Given the description of an element on the screen output the (x, y) to click on. 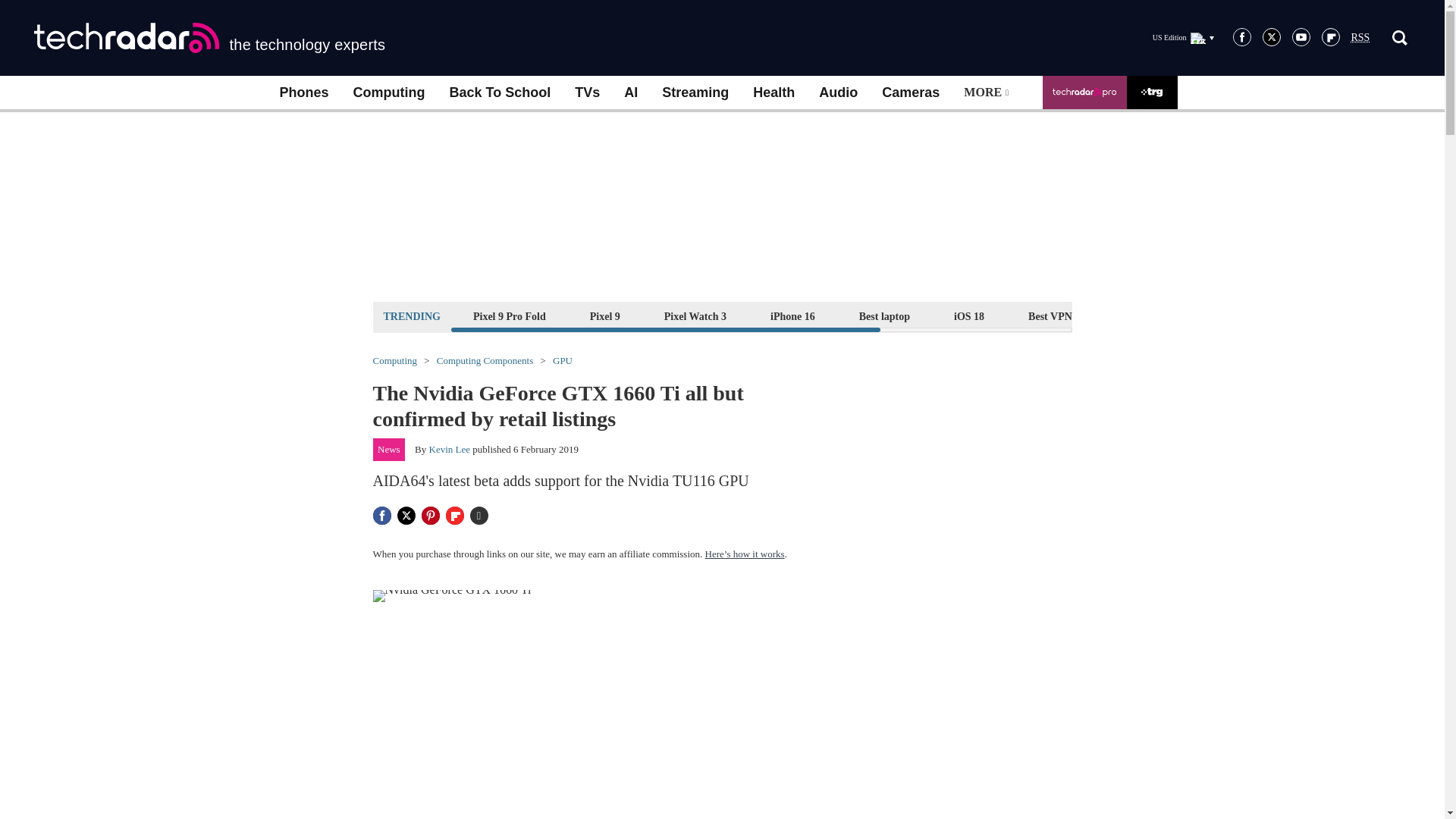
Health (773, 92)
AI (630, 92)
Phones (303, 92)
Audio (837, 92)
the technology experts (209, 38)
US Edition (1182, 37)
Back To School (499, 92)
Computing (389, 92)
Cameras (910, 92)
Streaming (695, 92)
